Given the description of an element on the screen output the (x, y) to click on. 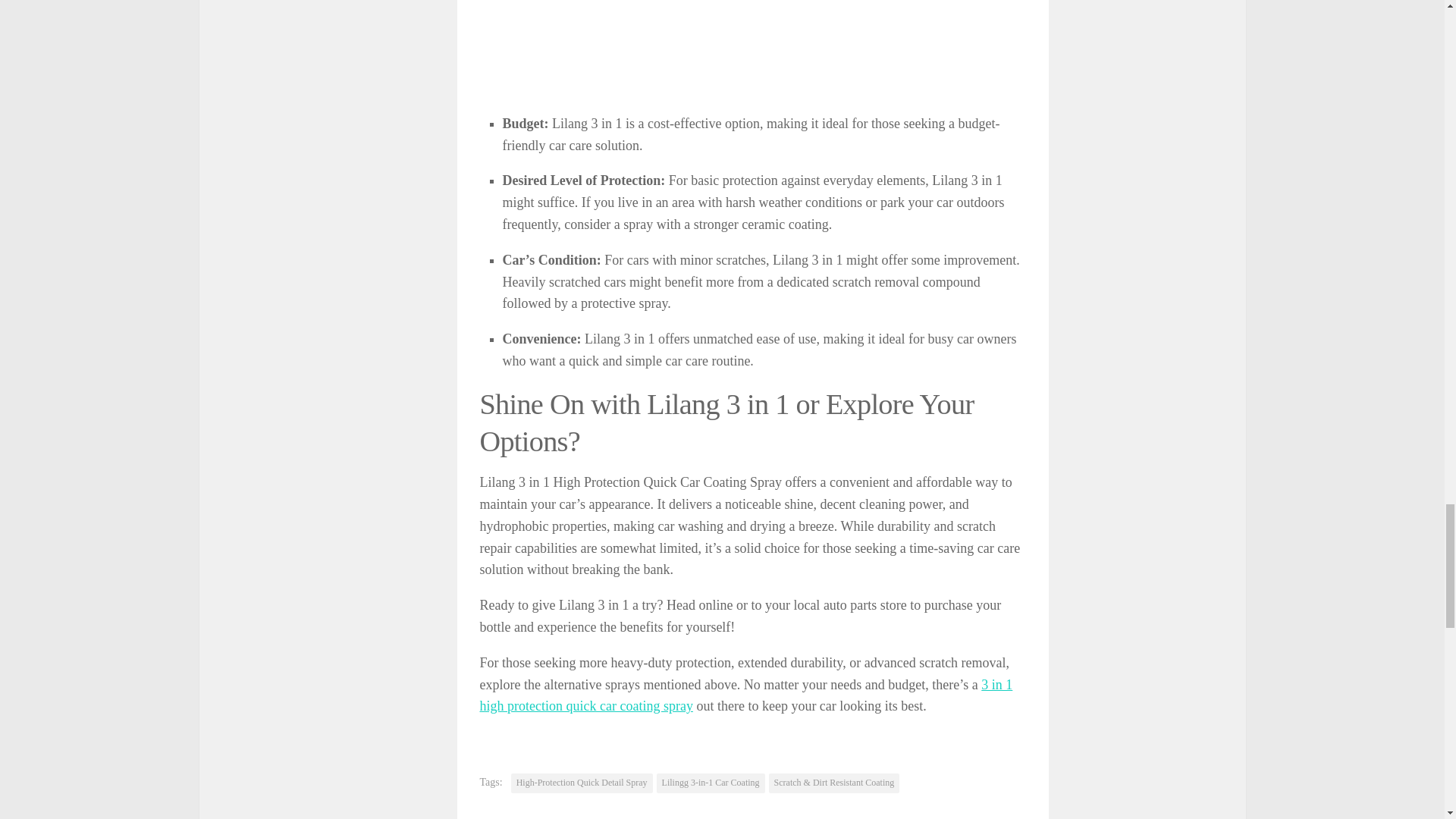
High-Protection Quick Detail Spray (581, 783)
Lilingg 3-in-1 Car Coating (710, 783)
3 in 1 high protection quick car coating spray (745, 695)
